Given the description of an element on the screen output the (x, y) to click on. 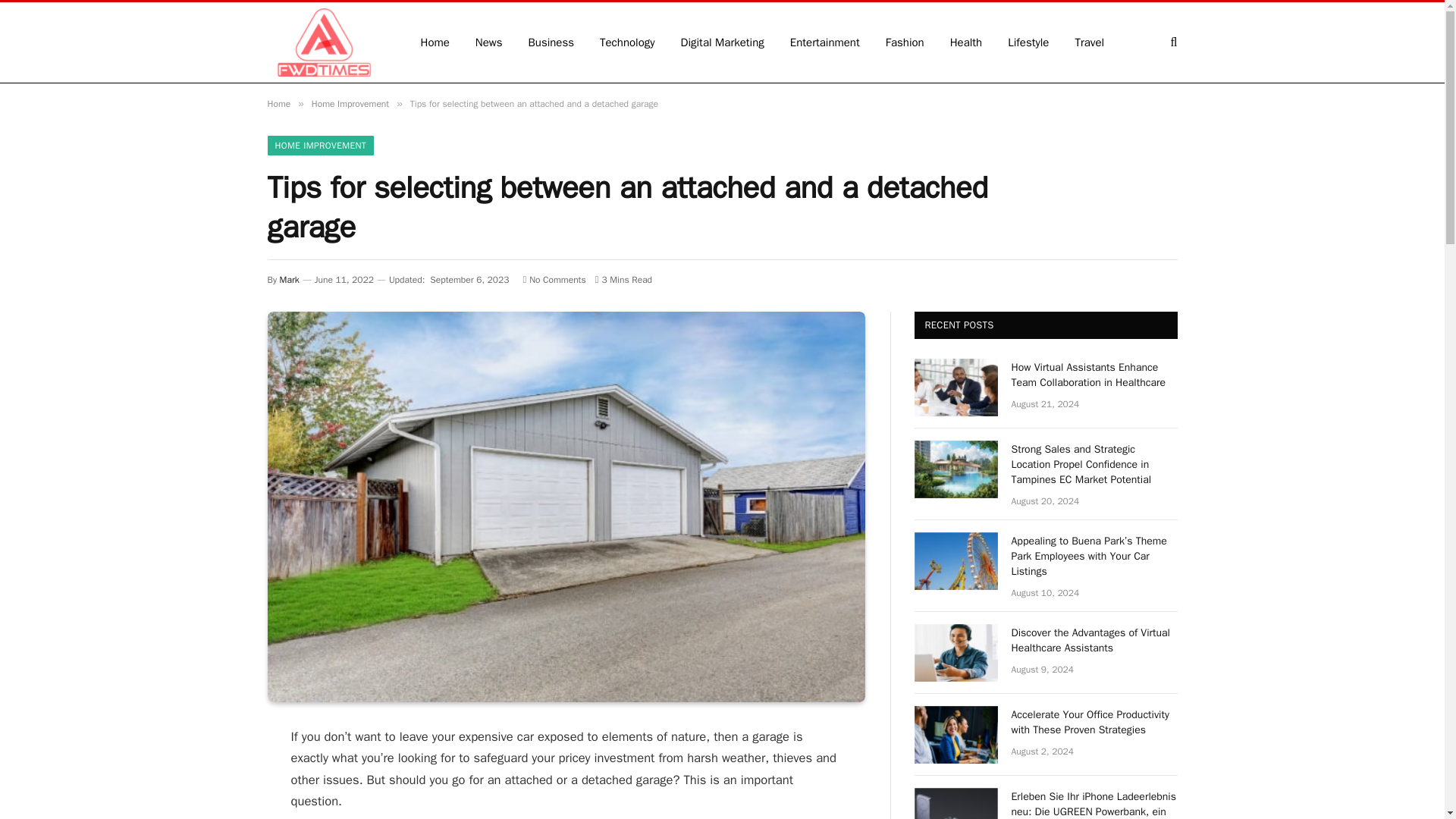
Entertainment (824, 42)
Business (551, 42)
HOME IMPROVEMENT (320, 145)
Home (277, 103)
Posts by Mark (289, 279)
Discover the Advantages of Virtual Healthcare Assistants (1094, 640)
